Given the description of an element on the screen output the (x, y) to click on. 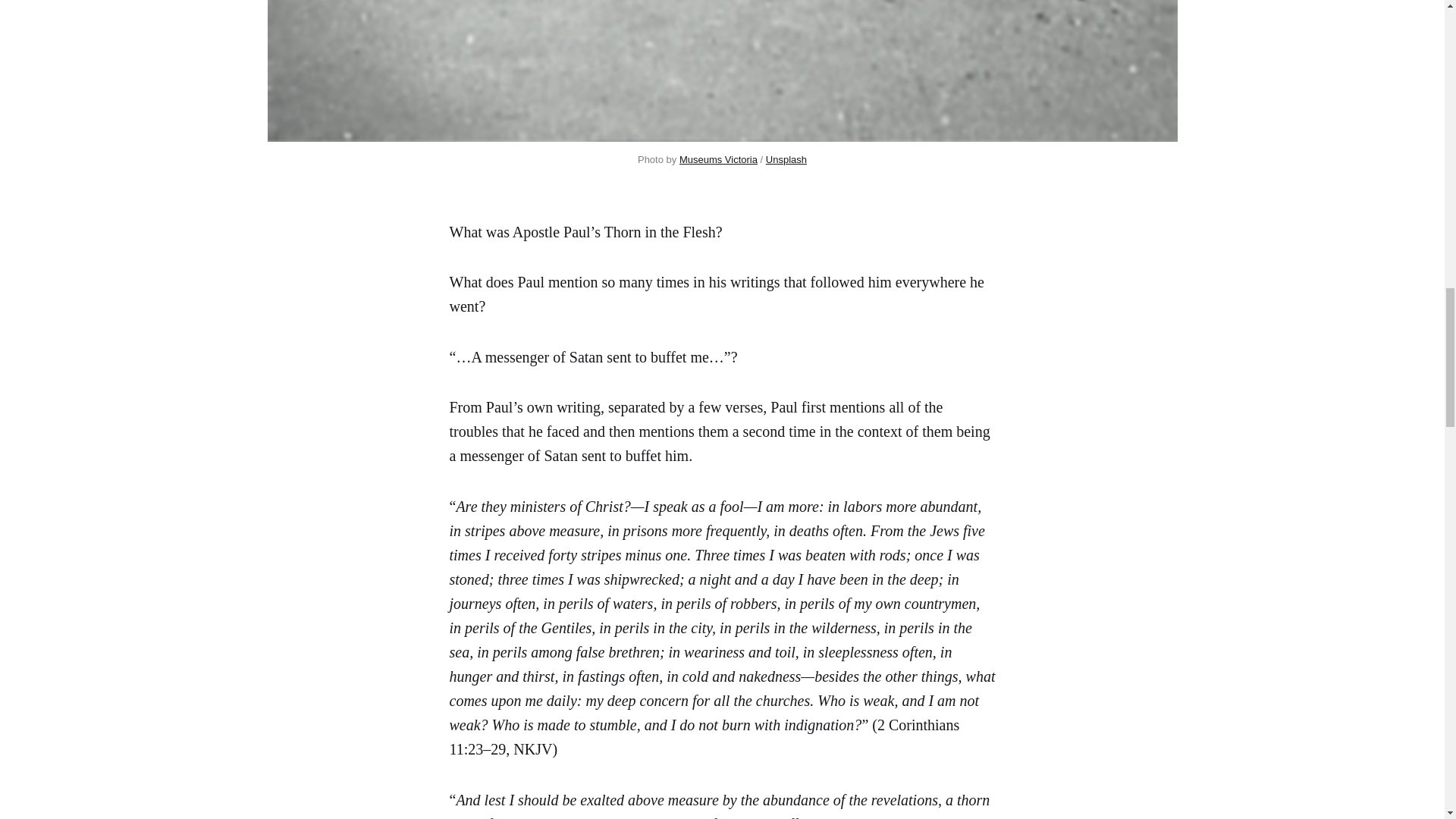
Unsplash (785, 159)
Museums Victoria (718, 159)
